Given the description of an element on the screen output the (x, y) to click on. 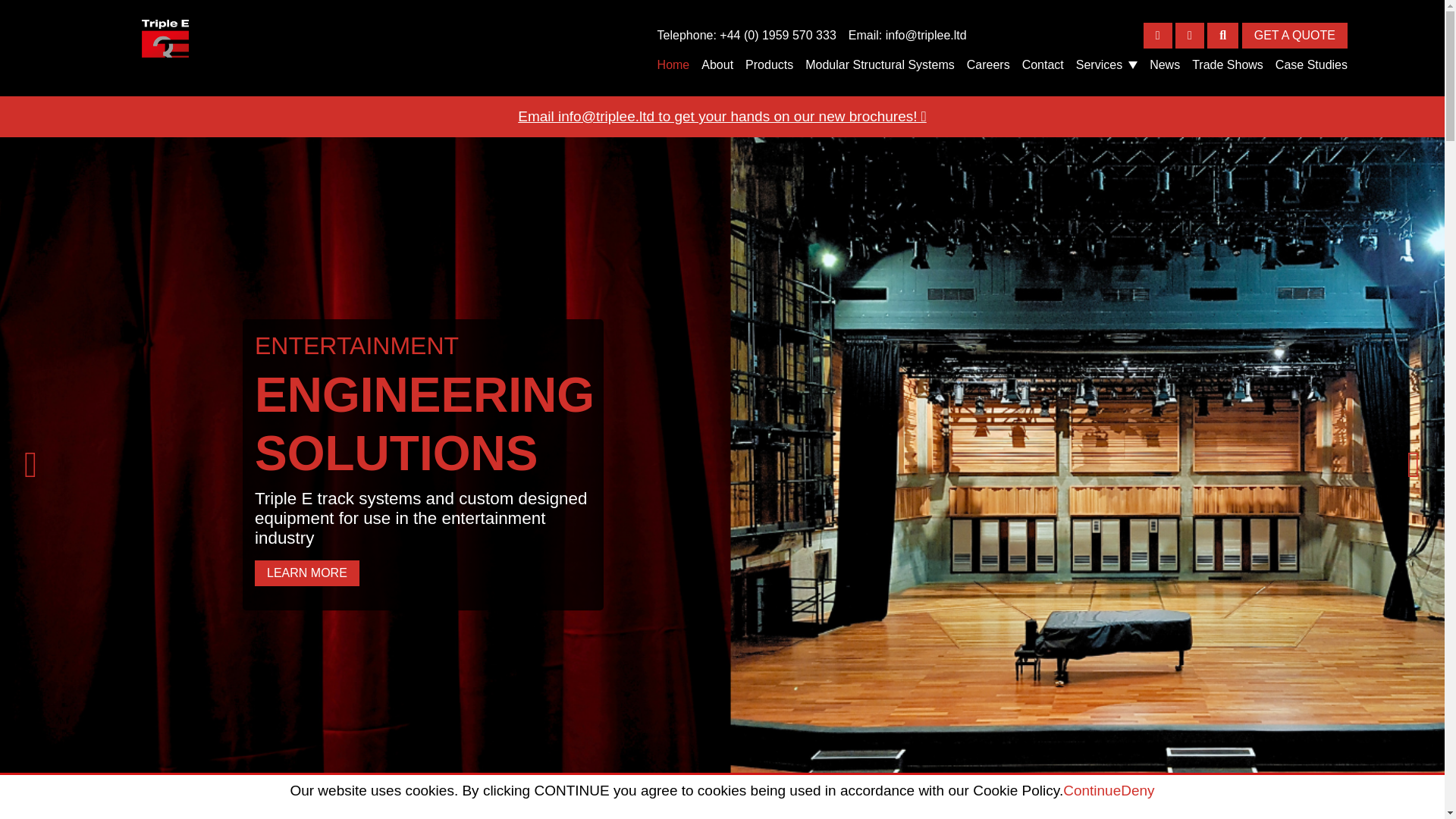
Download Documents (1189, 35)
Careers (988, 64)
LEARN MORE (306, 573)
News (1164, 64)
Case Studies (1311, 64)
Products (769, 64)
GET A QUOTE (1294, 35)
About (717, 64)
Contact (1043, 64)
Modular Structural Systems (880, 64)
Search (1223, 35)
Trade Shows (1227, 64)
Services (1106, 65)
Customer Zone (1157, 35)
Home (674, 64)
